Given the description of an element on the screen output the (x, y) to click on. 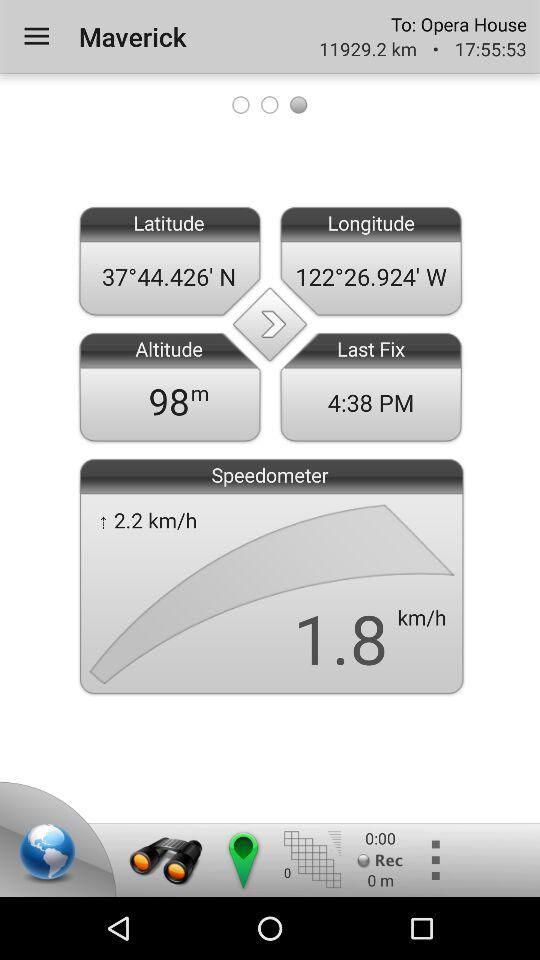
click on earth (51, 855)
